Given the description of an element on the screen output the (x, y) to click on. 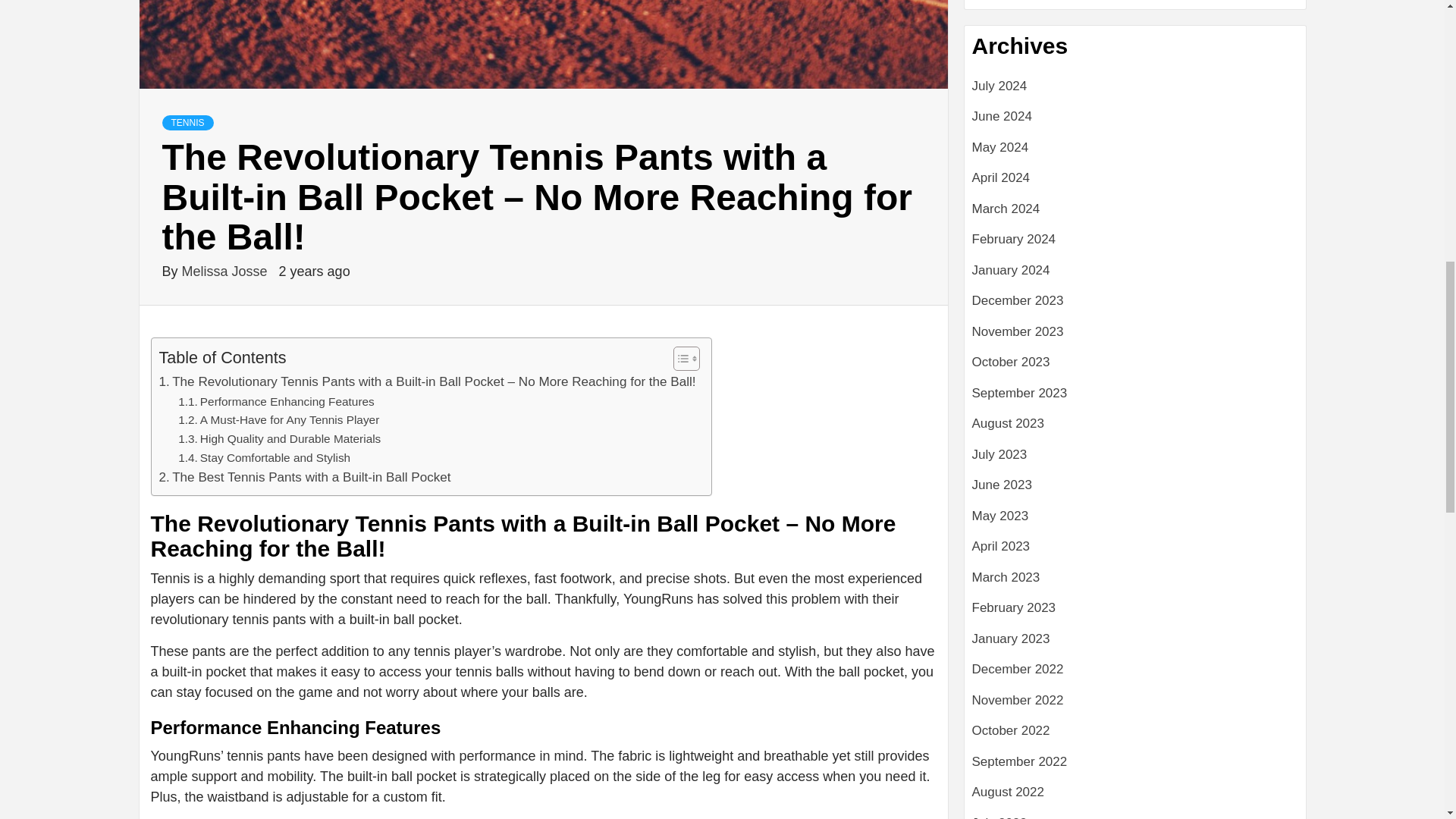
High Quality and Durable Materials (278, 438)
Stay Comfortable and Stylish (263, 457)
June 2024 (1135, 122)
TENNIS (187, 122)
Melissa Josse (226, 271)
Performance Enhancing Features (275, 402)
Stay Comfortable and Stylish (263, 457)
Performance Enhancing Features (275, 402)
High Quality and Durable Materials (278, 438)
July 2024 (1135, 91)
The Best Tennis Pants with a Built-in Ball Pocket (304, 476)
A Must-Have for Any Tennis Player (277, 420)
A Must-Have for Any Tennis Player (277, 420)
The Best Tennis Pants with a Built-in Ball Pocket (304, 476)
